Given the description of an element on the screen output the (x, y) to click on. 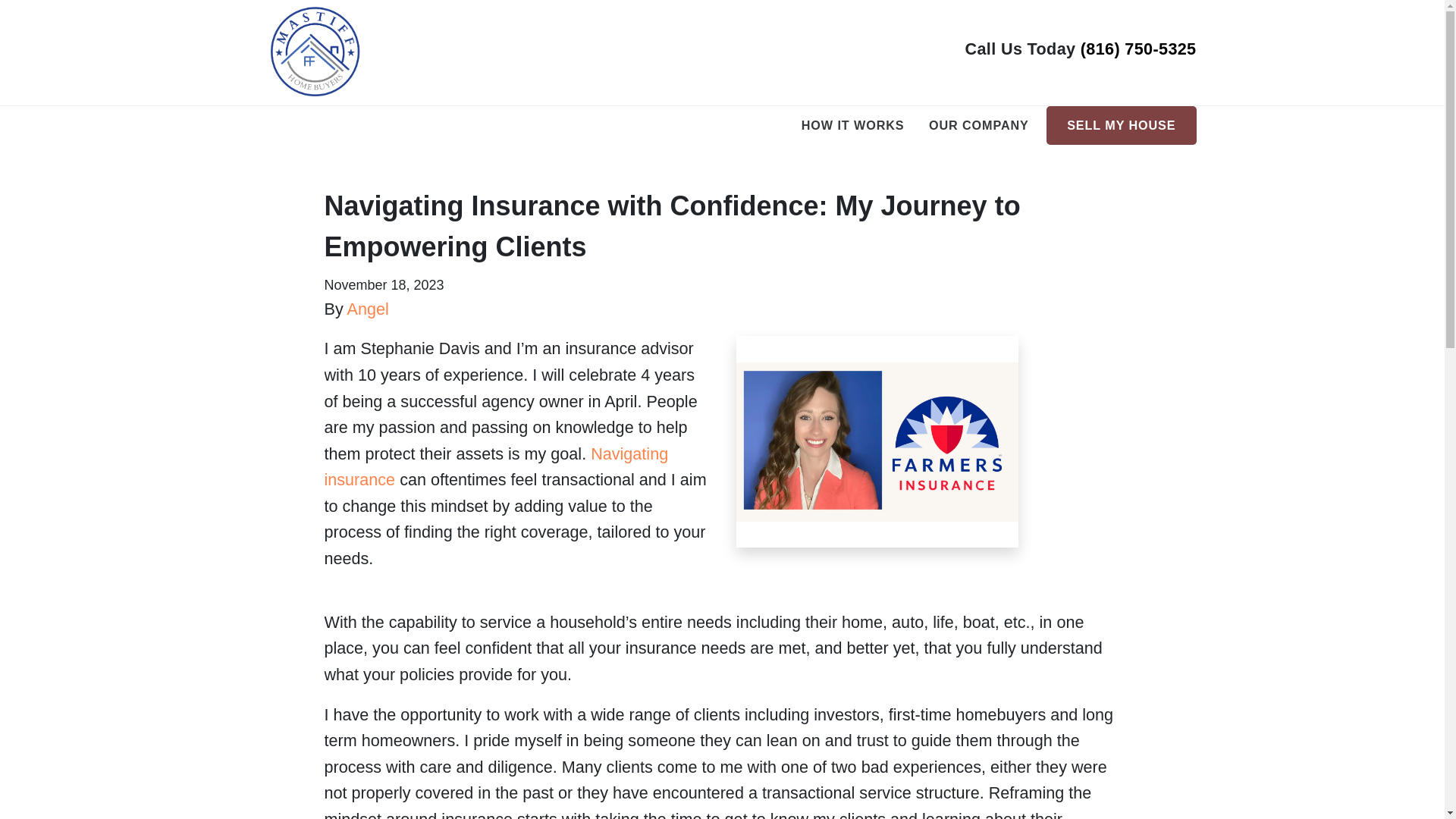
OUR COMPANY (978, 125)
Angel (367, 308)
HOW IT WORKS (852, 125)
How It Works (852, 125)
Our Company (978, 125)
Navigating insurance (496, 466)
Sell My House (1120, 125)
SELL MY HOUSE (1120, 125)
